Given the description of an element on the screen output the (x, y) to click on. 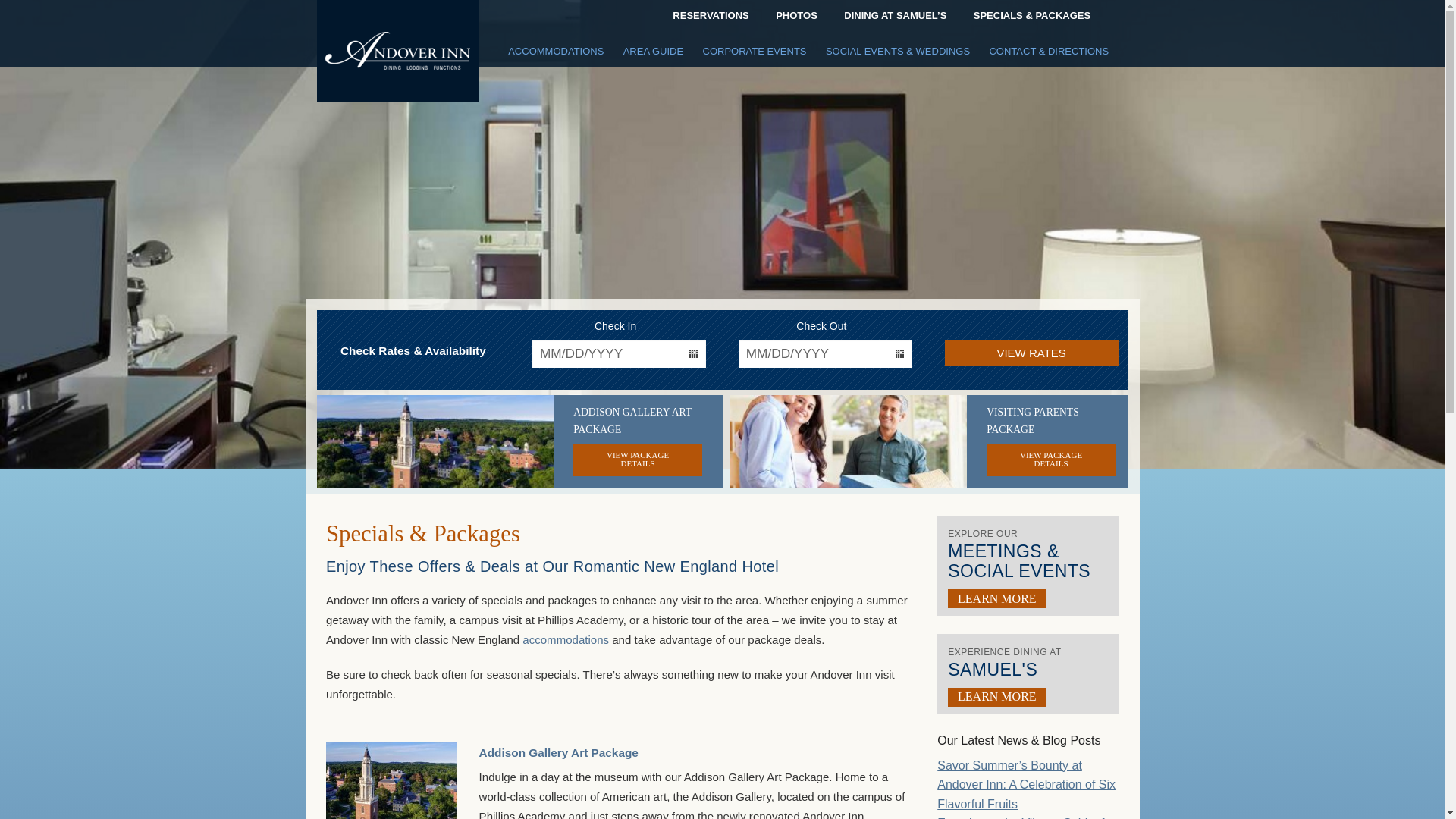
Andover Inn (398, 49)
RESERVATIONS (710, 15)
VIEW PACKAGE DETAILS (637, 459)
VISITING PARENTS PACKAGE (1032, 420)
CORPORATE EVENTS (764, 45)
VIEW RATES (1031, 352)
ACCOMMODATIONS (565, 45)
AREA GUIDE (663, 45)
VIEW PACKAGE DETAILS (1051, 459)
ADDISON GALLERY ART PACKAGE (632, 420)
PHOTOS (796, 15)
